Given the description of an element on the screen output the (x, y) to click on. 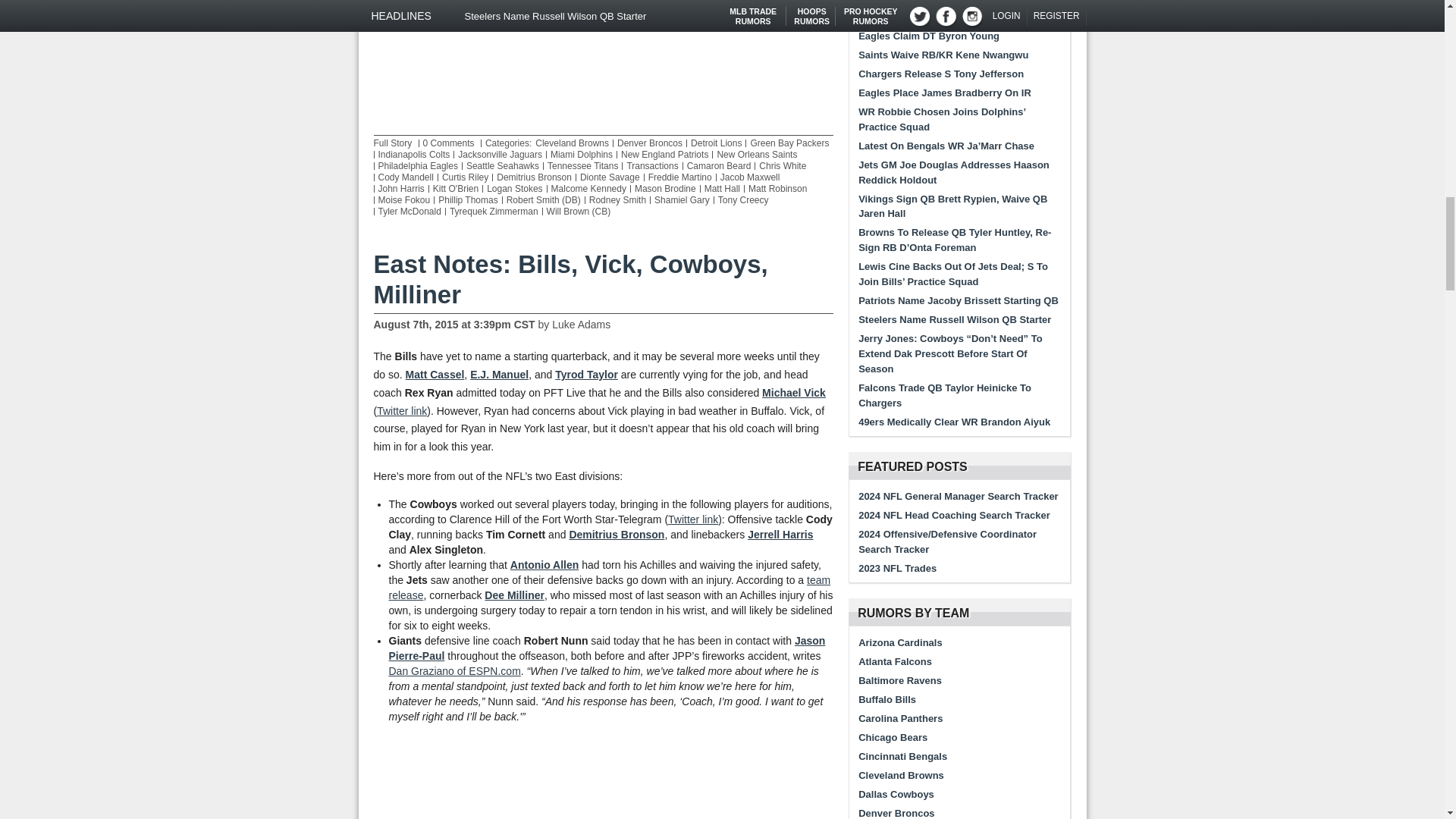
View all posts in Philadelphia Eagles (417, 165)
View all posts in Jacksonville Jaguars (499, 154)
View all posts in Detroit Lions (715, 143)
View all posts in Cleveland Browns (571, 143)
View all posts in New Orleans Saints (756, 154)
View all posts in Green Bay Packers (788, 143)
View all posts in Miami Dolphins (581, 154)
View all posts in Denver Broncos (649, 143)
View all posts in Indianapolis Colts (413, 154)
View all posts in New England Patriots (664, 154)
